Given the description of an element on the screen output the (x, y) to click on. 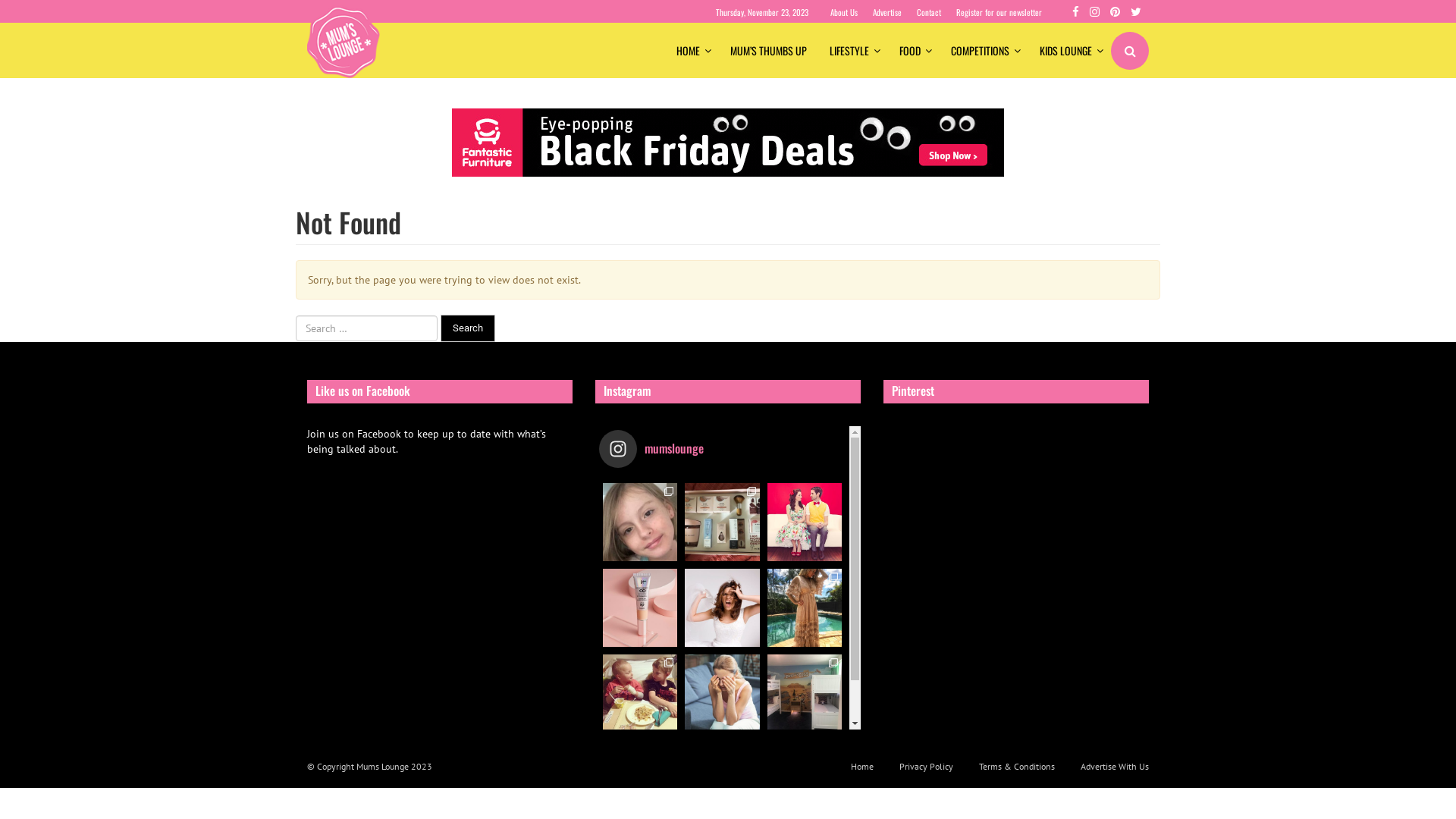
Terms & Conditions Element type: text (1016, 766)
Of all the things that could possibly go wrong on Element type: text (721, 607)
HOME Element type: text (691, 50)
Need a giggle? People are sharing all the ba Element type: text (804, 522)
Advertise Element type: text (886, 11)
Privacy Policy Element type: text (926, 766)
COMPETITIONS Element type: text (983, 50)
3rd party ad content Element type: hover (727, 142)
~ TOURETTES SYNDROME AWARENESS WEEK ~ 11 year old Element type: text (639, 522)
Follow on Instagram Element type: text (723, 757)
Founded by Lynda Chapman and Pia Dwyer, two women Element type: text (721, 522)
KIDS LOUNGE Element type: text (1069, 50)
Home Element type: text (861, 766)
Advertise With Us Element type: text (1108, 766)
Register for our newsletter Element type: text (998, 11)
LIFESTYLE Element type: text (853, 50)
Search Element type: text (467, 328)
Head over to our website to find out why beauty lo Element type: text (639, 607)
We are very impressed with the newly renovated Dus Element type: text (804, 693)
Contact Element type: text (928, 11)
FOOD Element type: text (913, 50)
About Us Element type: text (843, 11)
mumslounge Element type: text (670, 448)
